Given the description of an element on the screen output the (x, y) to click on. 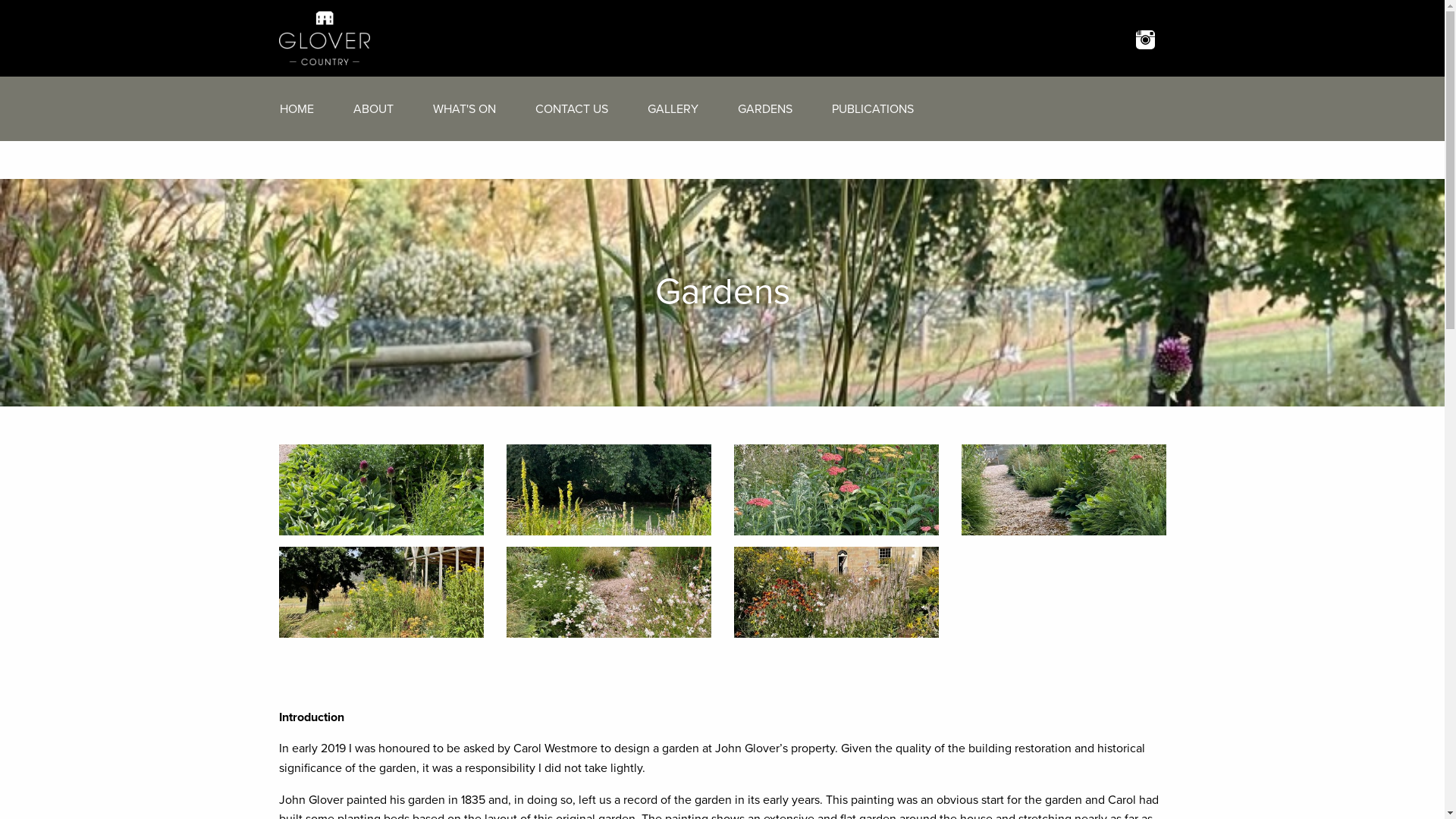
PUBLICATIONS Element type: text (872, 108)
CONTACT US Element type: text (571, 108)
ABOUT Element type: text (373, 108)
HOME Element type: text (295, 108)
WHAT'S ON Element type: text (463, 108)
GALLERY Element type: text (672, 108)
GARDENS Element type: text (763, 108)
